Given the description of an element on the screen output the (x, y) to click on. 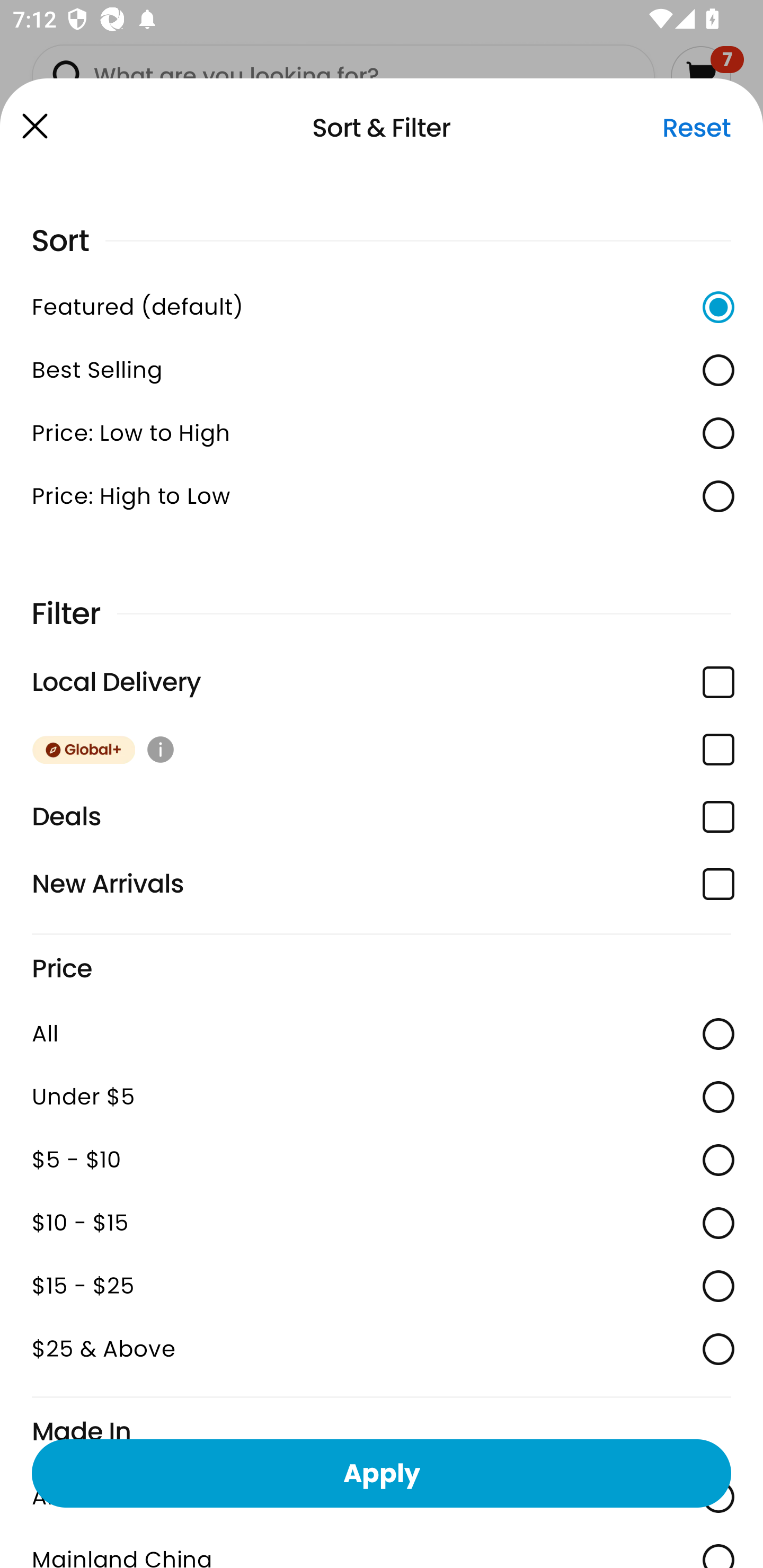
Reset (696, 127)
Apply (381, 1472)
